Given the description of an element on the screen output the (x, y) to click on. 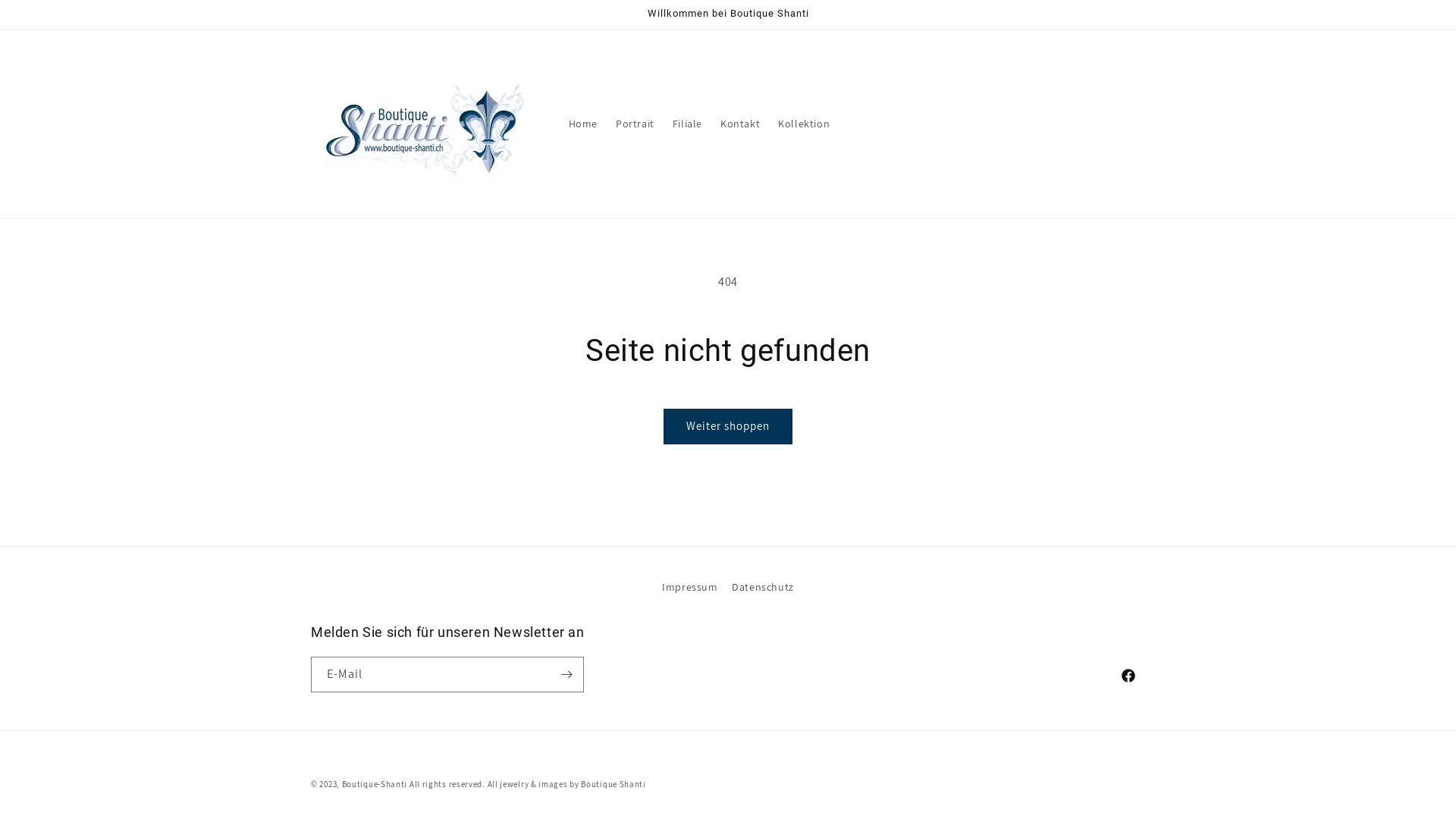
Impressum Element type: text (689, 588)
Warenkorb Element type: text (1131, 123)
Boutique-Shanti Element type: text (374, 783)
Kollektion Element type: text (803, 123)
Weiter shoppen Element type: text (727, 426)
Datenschutz Element type: text (762, 587)
Facebook Element type: text (1128, 675)
Home Element type: text (582, 123)
Filiale Element type: text (687, 123)
Portrait Element type: text (634, 123)
Kontakt Element type: text (739, 123)
